Given the description of an element on the screen output the (x, y) to click on. 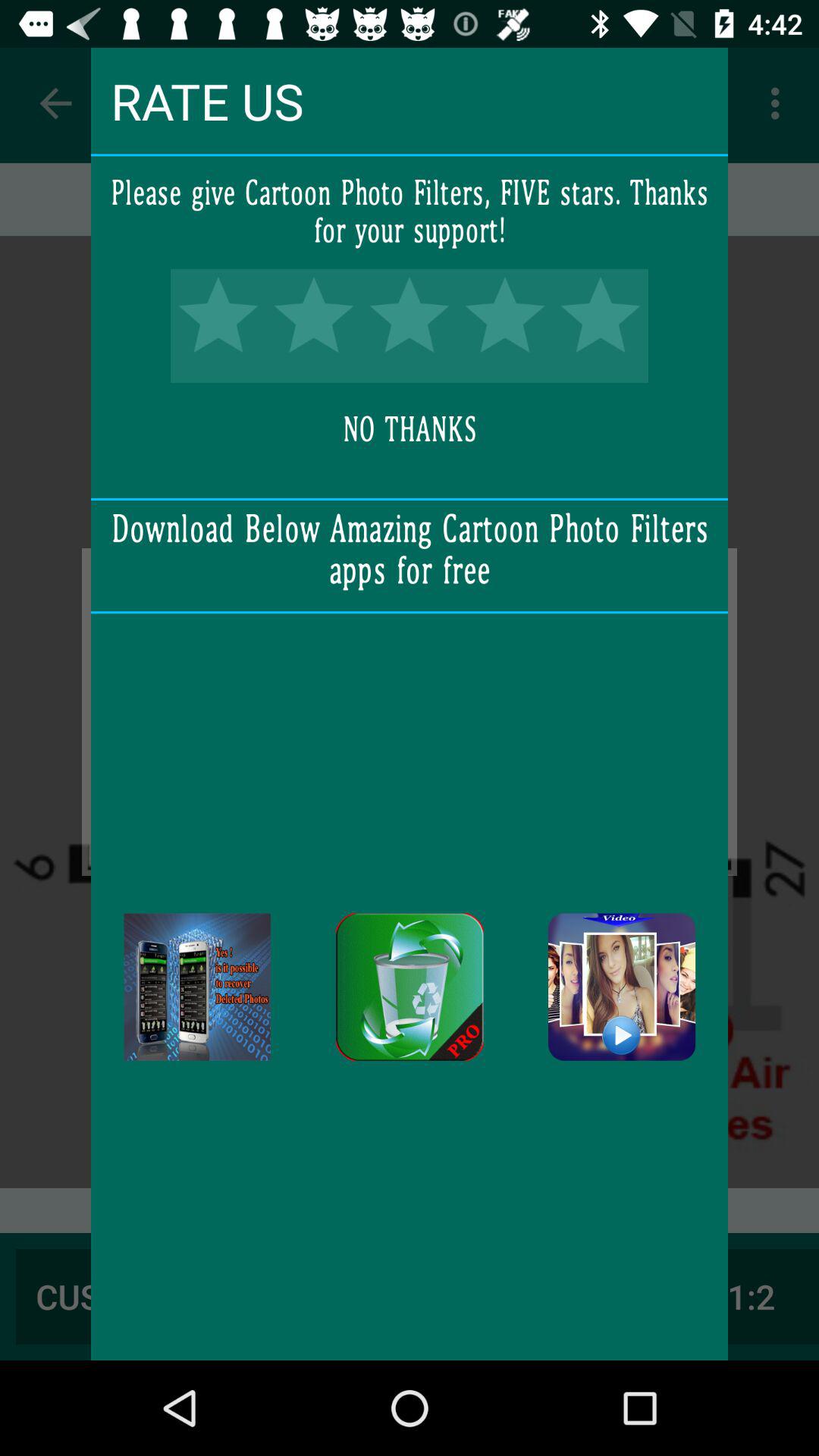
download app (197, 986)
